Given the description of an element on the screen output the (x, y) to click on. 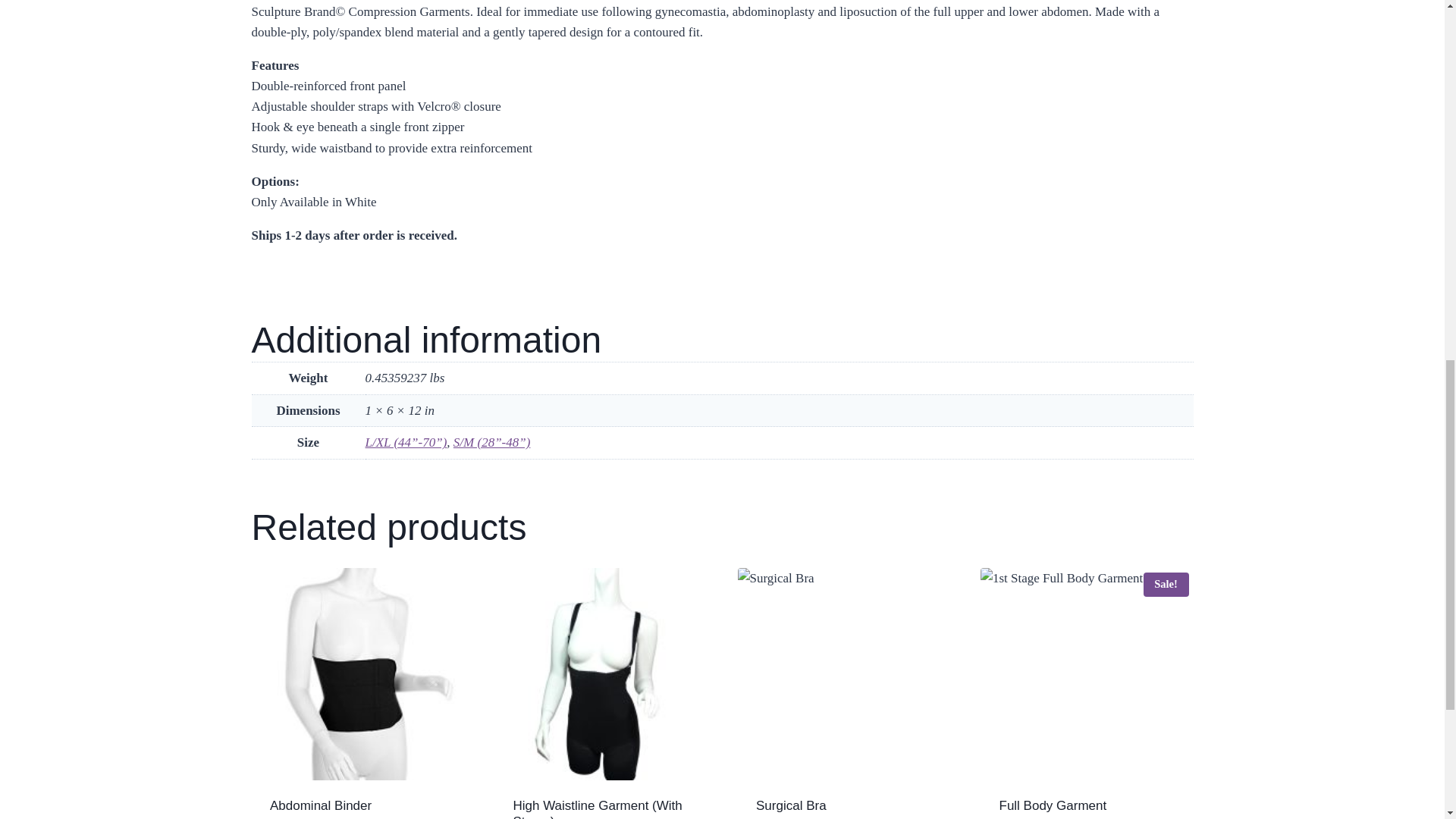
Abdominal Binder (320, 805)
Sale! (1086, 674)
Surgical Bra (791, 805)
